Given the description of an element on the screen output the (x, y) to click on. 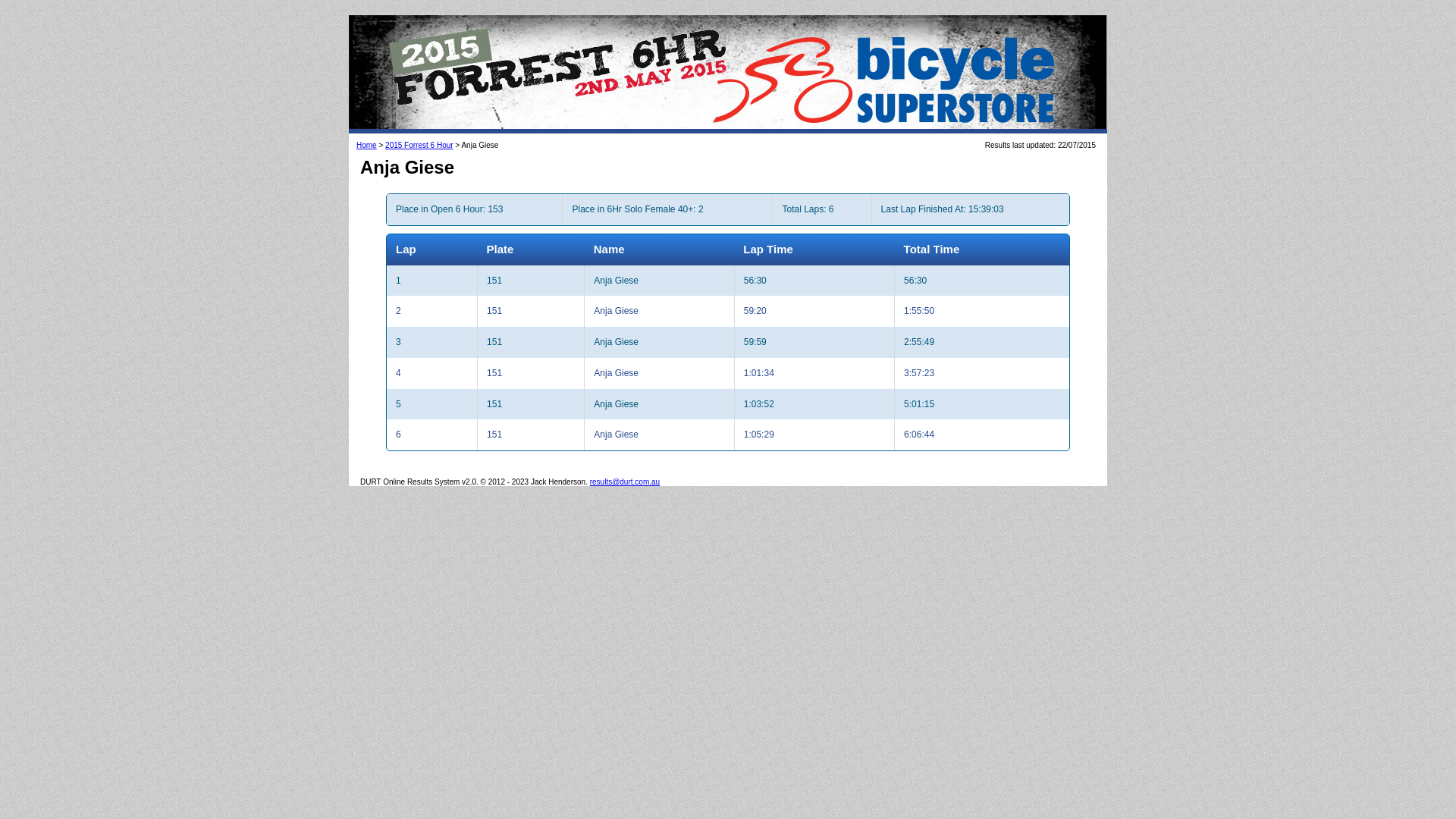
2015 Forrest 6 Hour Element type: text (419, 145)
results@durt.com.au Element type: text (624, 481)
Home Element type: text (366, 145)
